Given the description of an element on the screen output the (x, y) to click on. 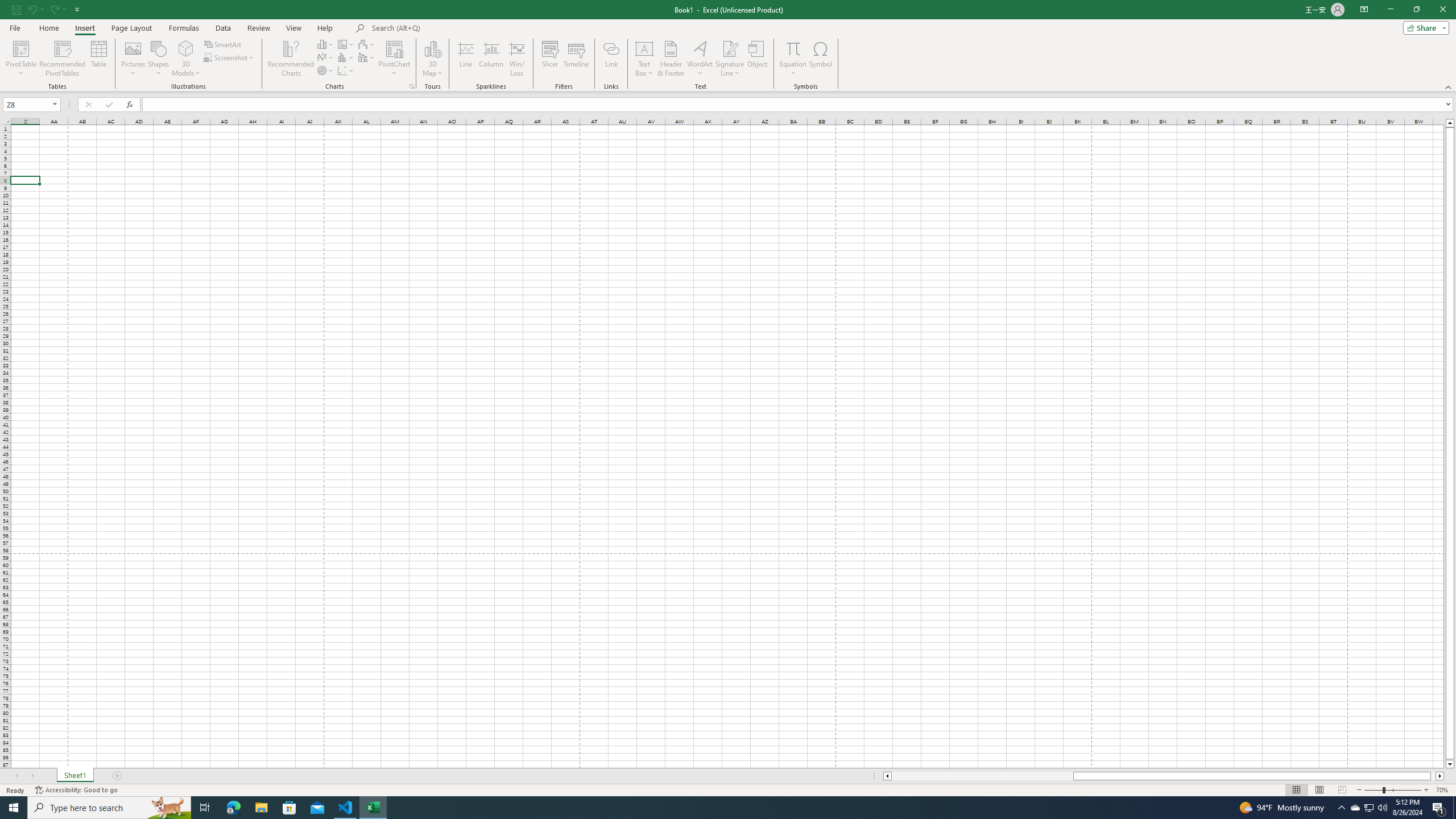
3D Map (432, 58)
Insert Line or Area Chart (325, 56)
Screenshot (229, 56)
